Given the description of an element on the screen output the (x, y) to click on. 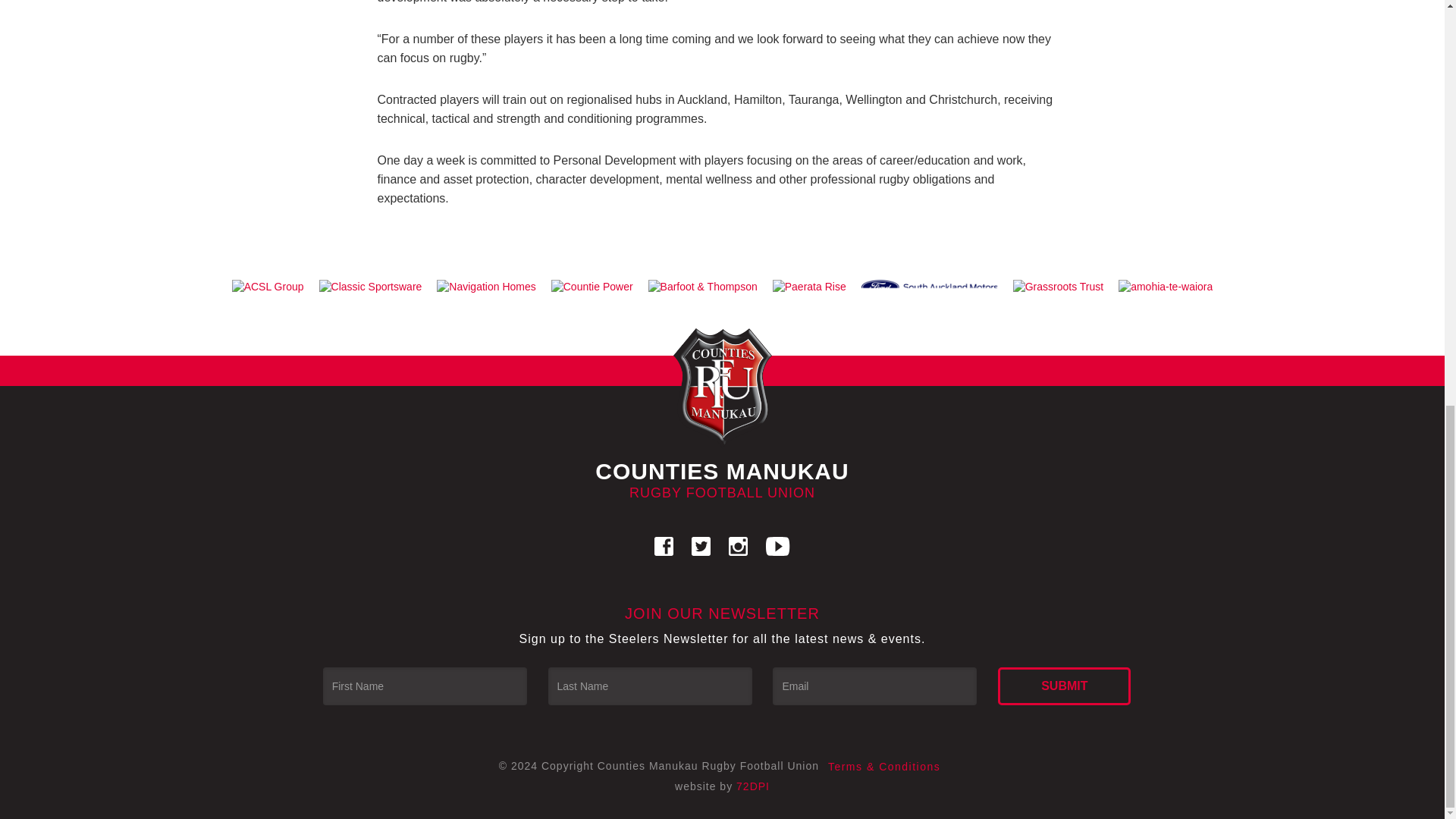
South Auckland Motors (929, 286)
amohia-te-waiora (1165, 287)
Counties Power (591, 287)
ACSL Group (267, 287)
Navigational Homes (486, 287)
Grassroots Trust (1058, 287)
Paerata Rise (809, 287)
Classic Sportsware (370, 287)
